Given the description of an element on the screen output the (x, y) to click on. 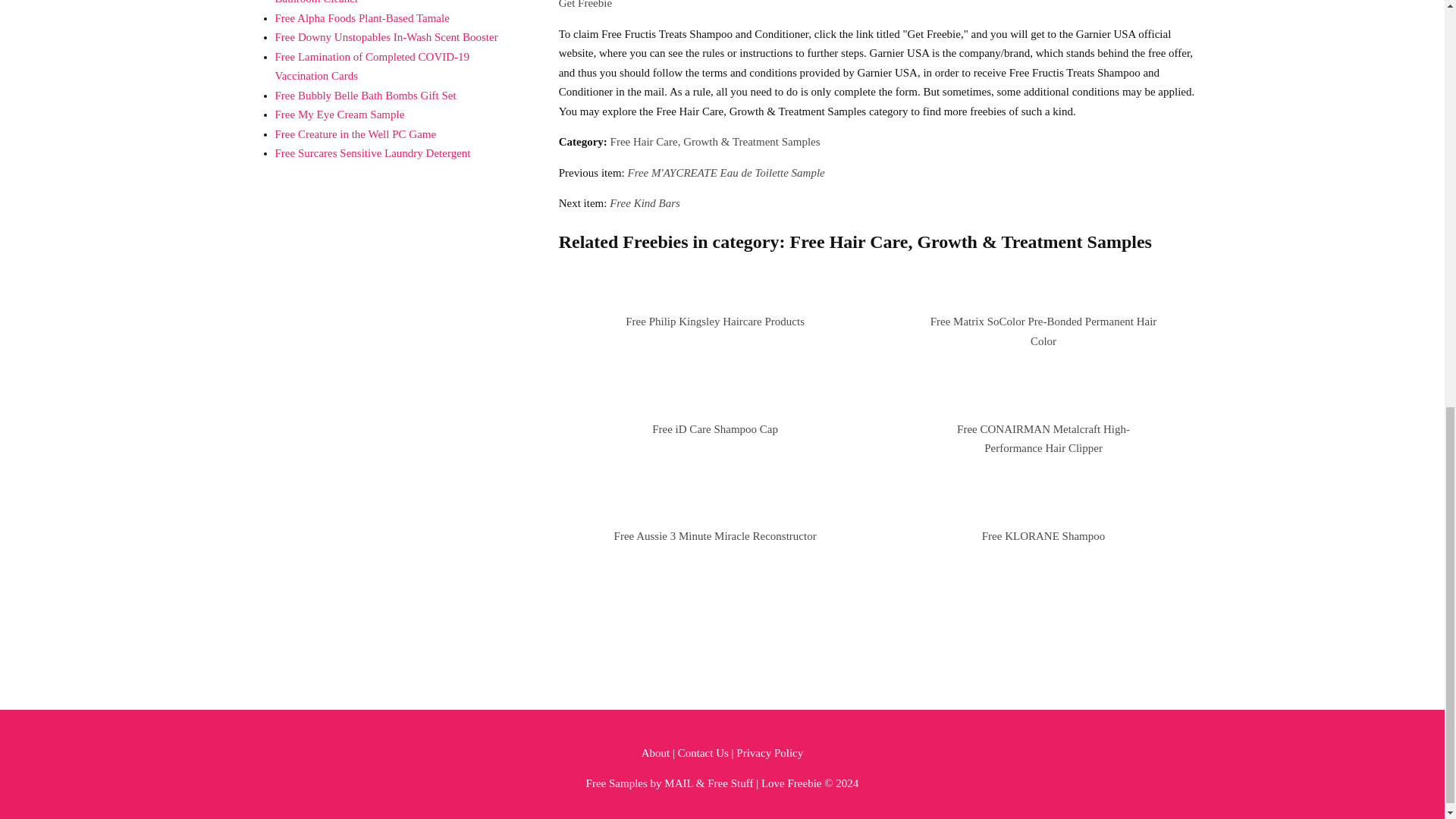
Free Matrix SoColor Pre-Bonded Permanent Hair Color (1043, 331)
Free Kind Bars (644, 203)
Free CONAIRMAN Metalcraft High-Performance Hair Clipper (1042, 439)
Free M'AYCREATE Eau de Toilette Sample (726, 173)
Free Philip Kingsley Haircare Products (715, 321)
Get Freebie (585, 4)
Free iD Care Shampoo Cap (714, 428)
Free KLORANE Shampoo (1043, 535)
Free Aussie 3 Minute Miracle Reconstructor (715, 535)
